Given the description of an element on the screen output the (x, y) to click on. 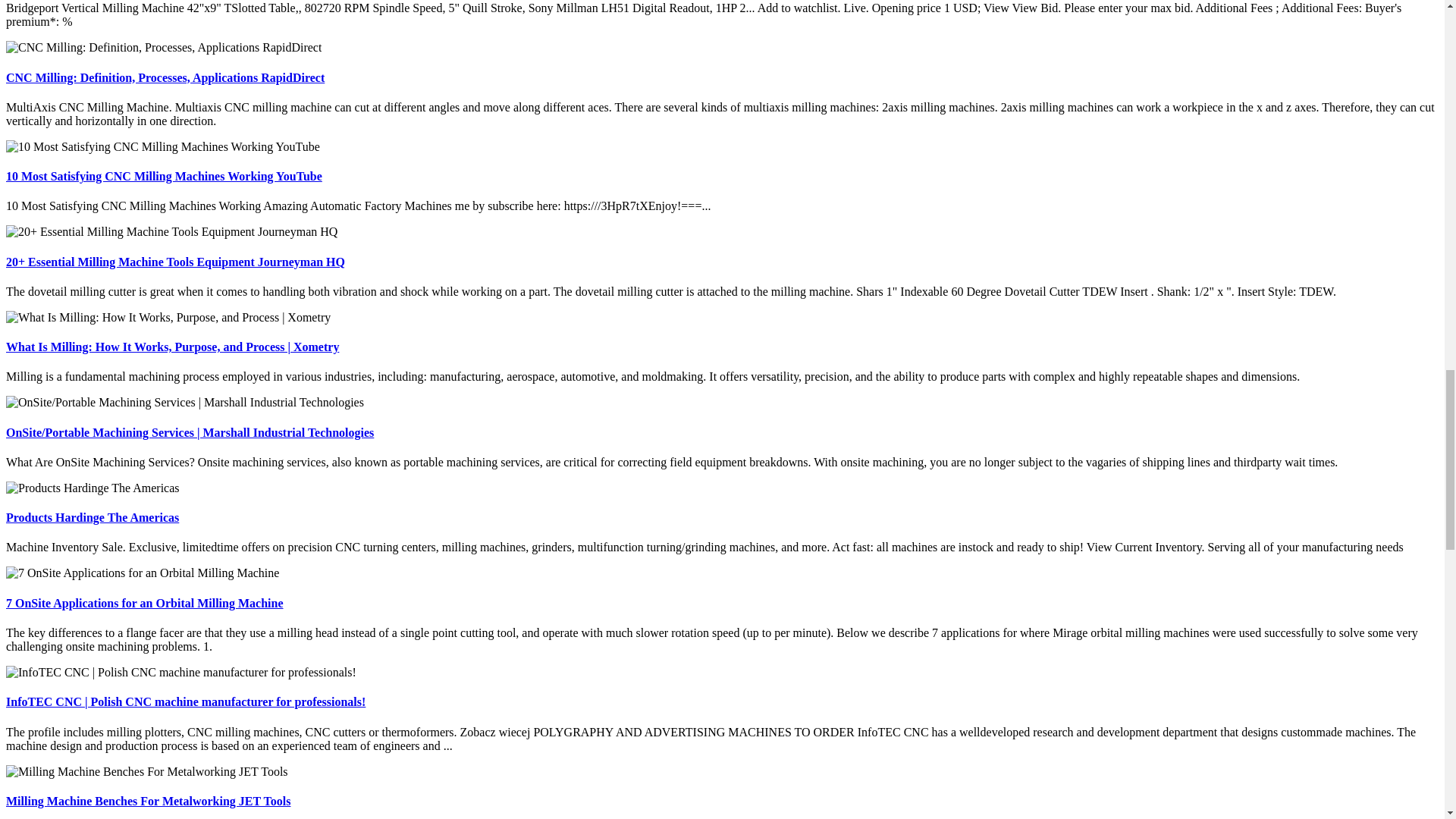
10 Most Satisfying CNC Milling Machines Working YouTube (163, 175)
Products Hardinge The Americas (92, 517)
CNC Milling: Definition, Processes, Applications RapidDirect (164, 77)
